Given the description of an element on the screen output the (x, y) to click on. 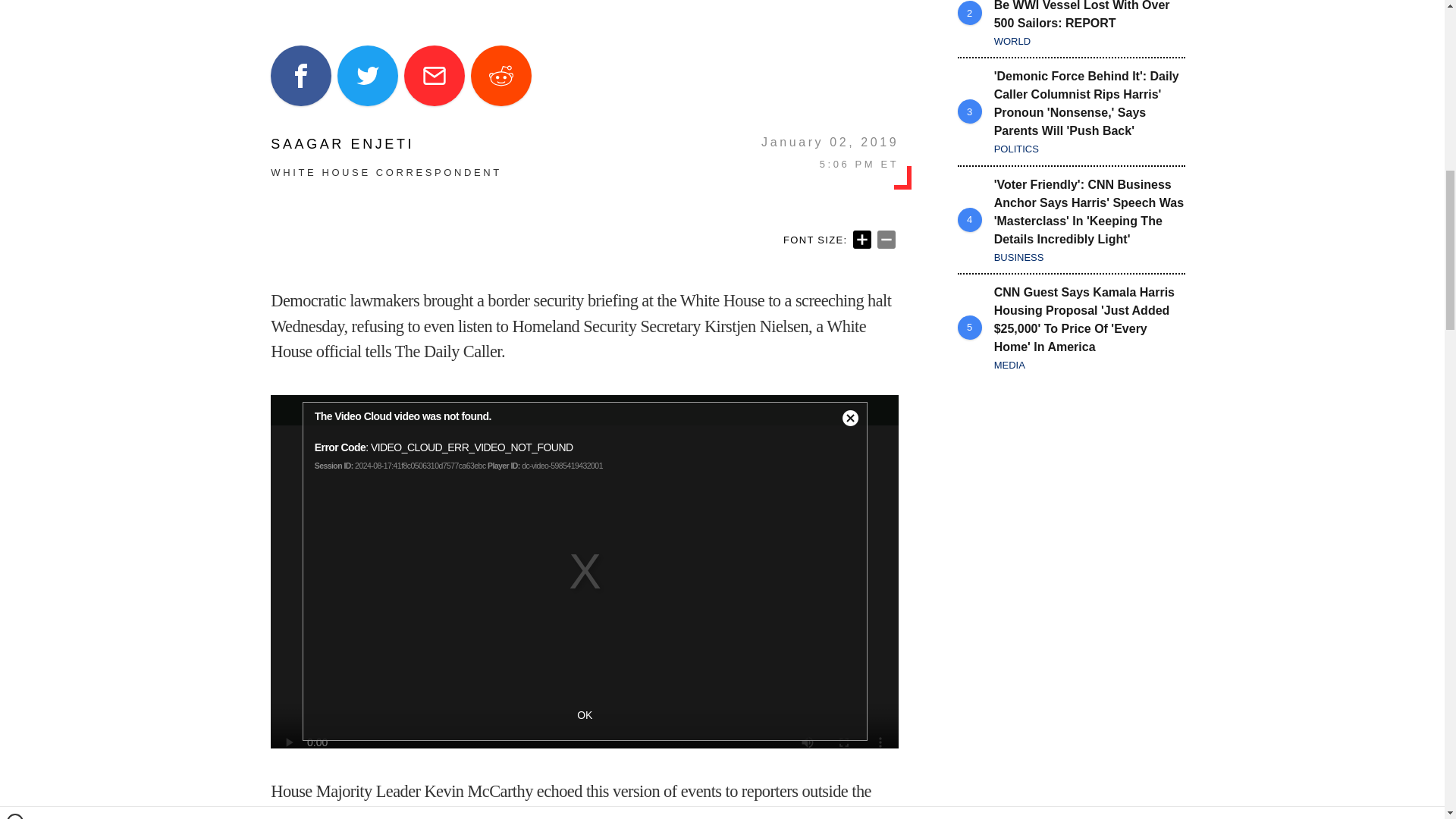
SAAGAR ENJETI (386, 144)
Close Modal Dialog (850, 418)
Close window (14, 6)
View More Articles By Saagar Enjeti (386, 144)
